Given the description of an element on the screen output the (x, y) to click on. 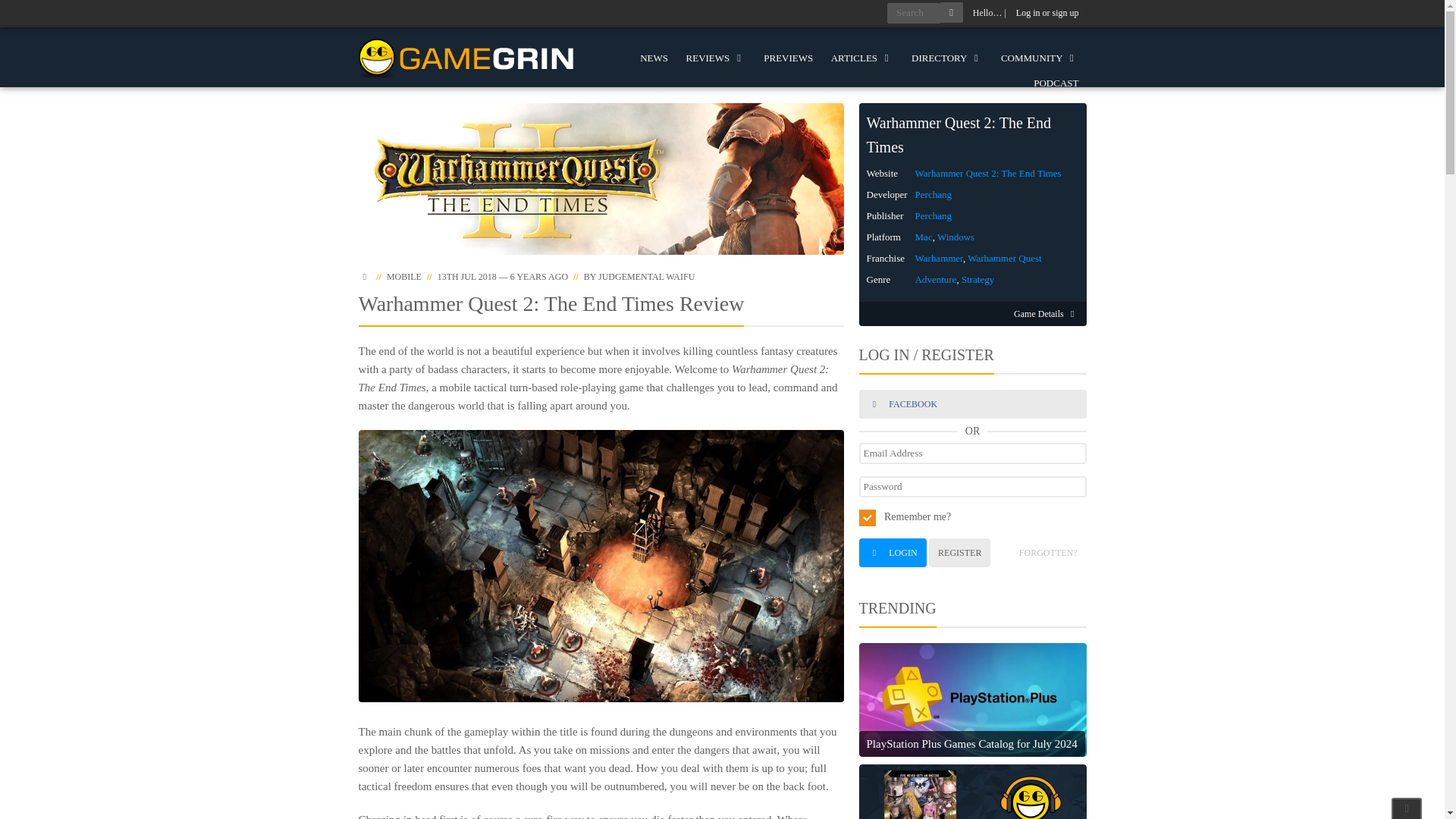
PODCAST (1056, 82)
JUDGEMENTAL WAIFU (646, 276)
ARTICLES (862, 57)
MOBILE (404, 276)
DIRECTORY (947, 57)
COMMUNITY (1039, 57)
Log in or sign up (1047, 13)
REVIEWS (716, 57)
PREVIEWS (788, 57)
NEWS (653, 57)
